Given the description of an element on the screen output the (x, y) to click on. 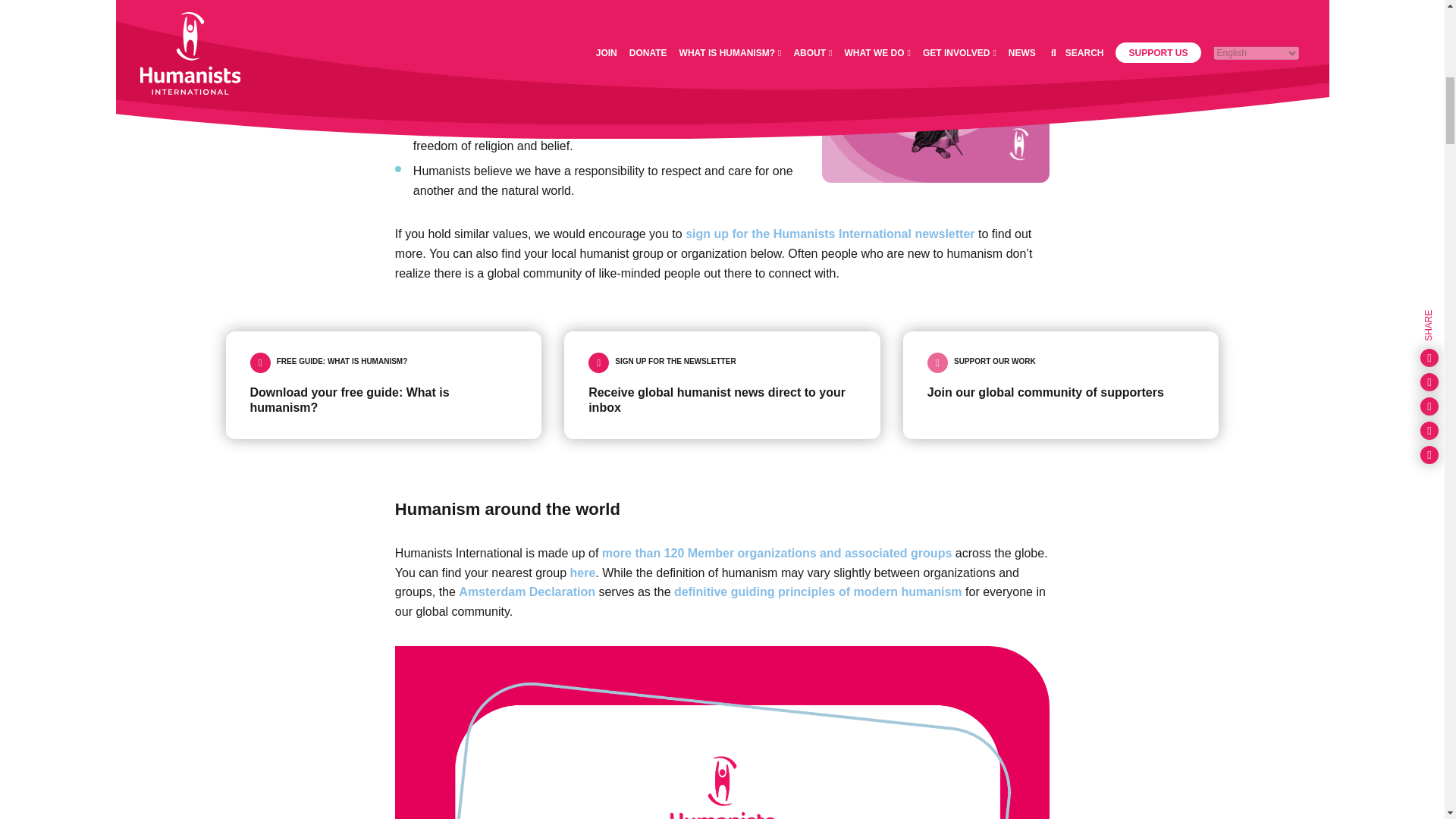
Receive global humanist news direct to your inbox (722, 384)
Join our global community of supporters (1061, 384)
Download your free guide: What is humanism? (383, 384)
